Given the description of an element on the screen output the (x, y) to click on. 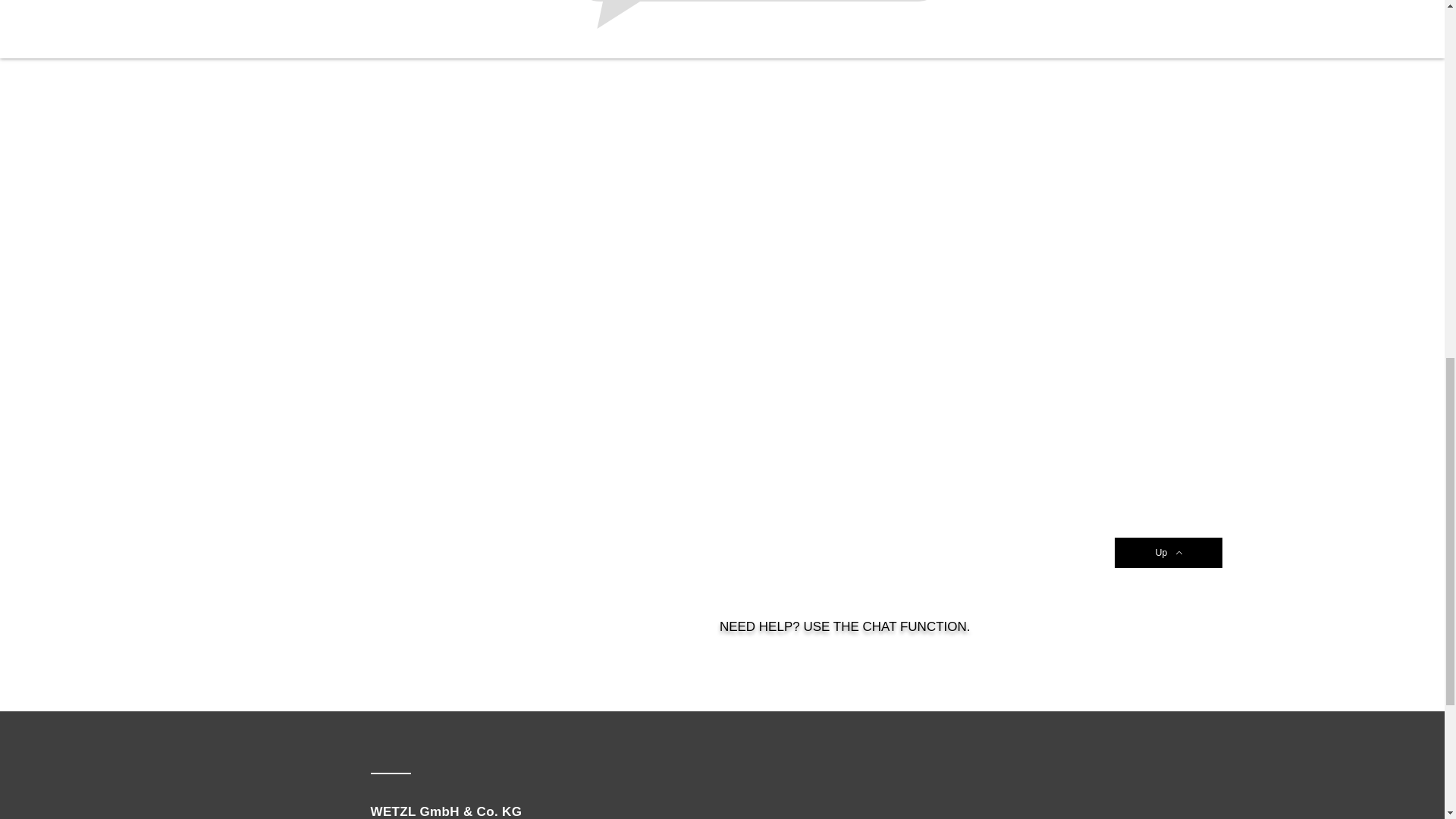
Up (1169, 552)
